Given the description of an element on the screen output the (x, y) to click on. 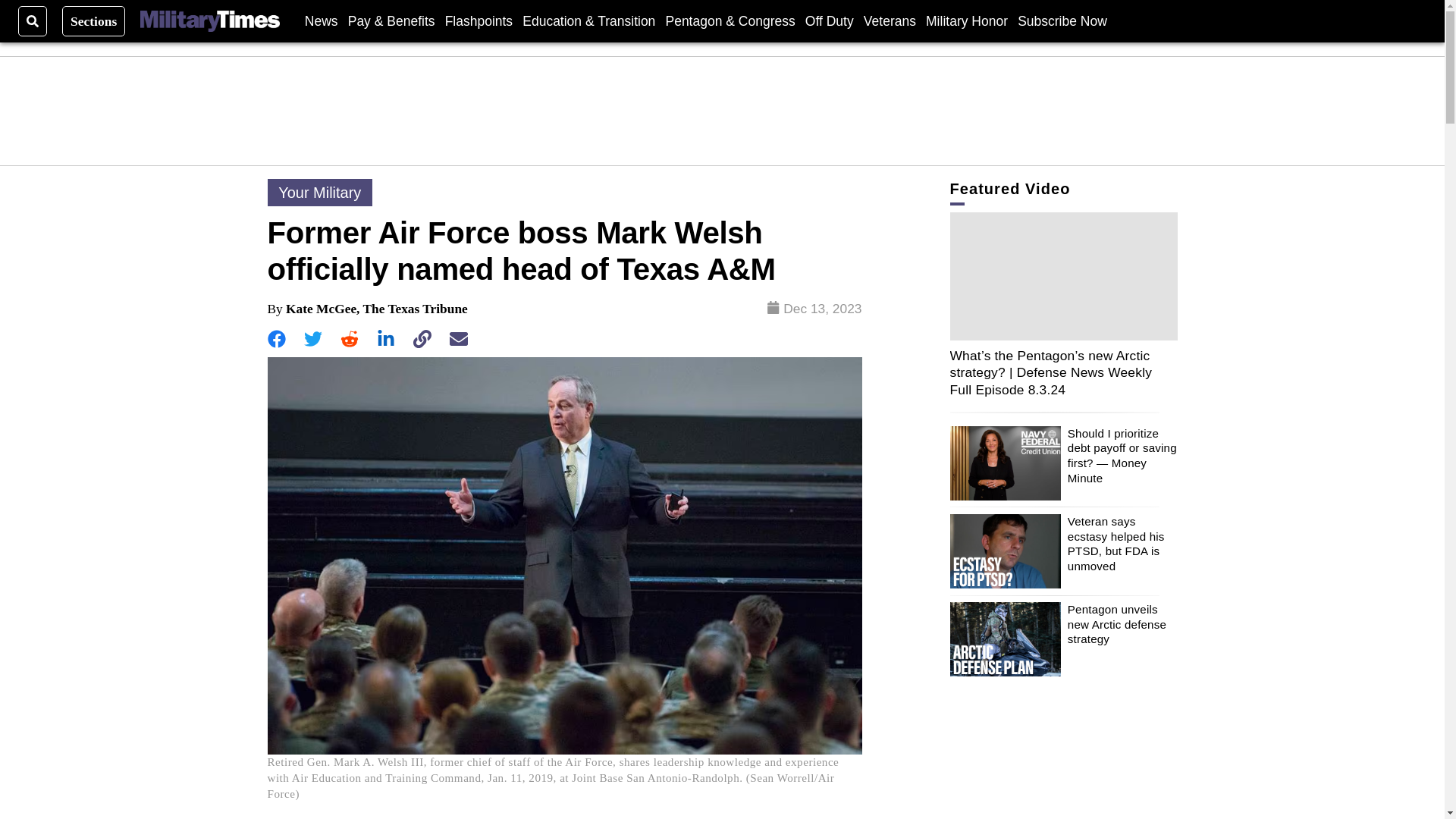
Military Times Logo (209, 20)
News (320, 20)
Veterans (889, 20)
Military Honor (966, 20)
Flashpoints (479, 20)
Off Duty (829, 20)
Sections (93, 20)
